Given the description of an element on the screen output the (x, y) to click on. 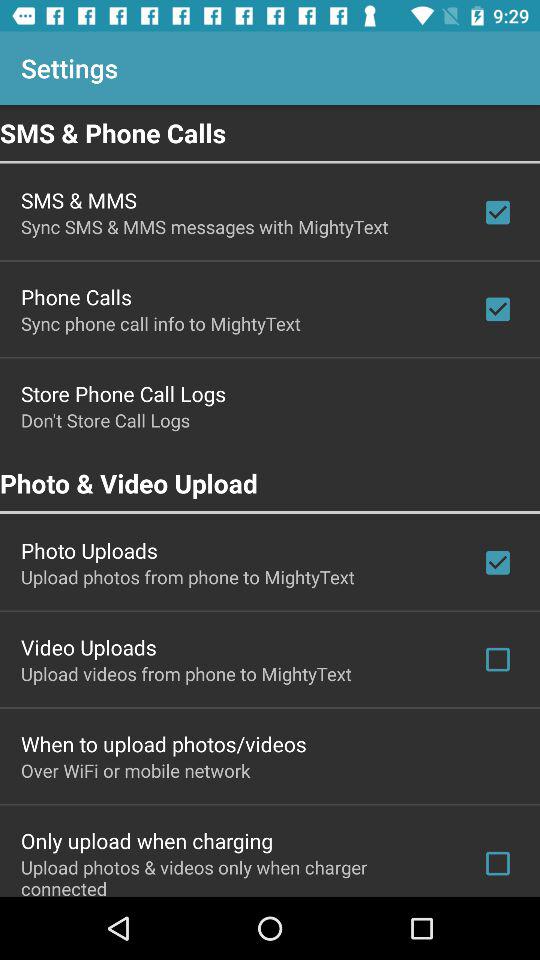
flip until the over wifi or item (135, 770)
